Given the description of an element on the screen output the (x, y) to click on. 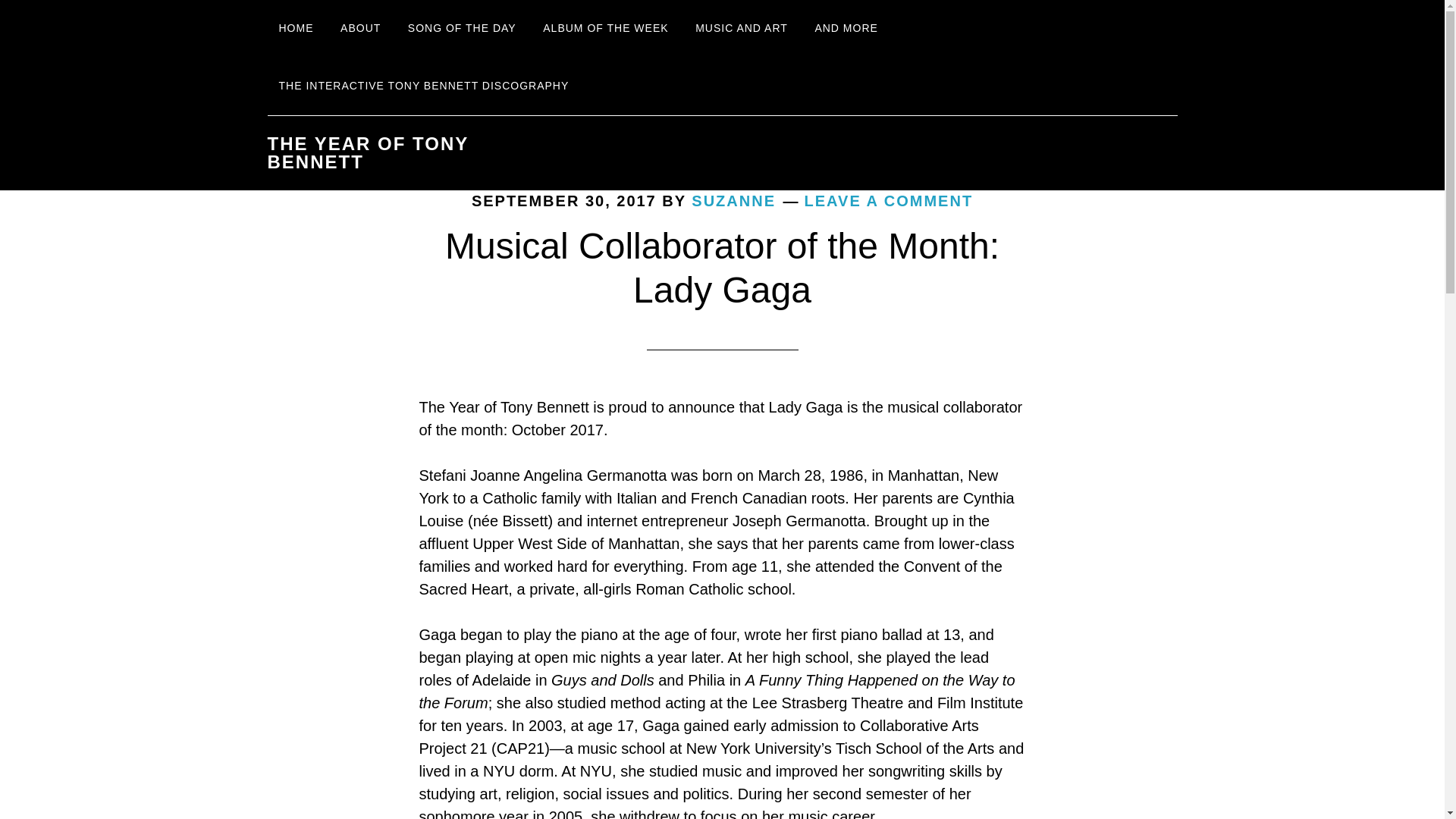
THE YEAR OF TONY BENNETT (366, 152)
THE INTERACTIVE TONY BENNETT DISCOGRAPHY (422, 86)
SUZANNE (733, 200)
ALBUM OF THE WEEK (605, 28)
MUSIC AND ART (741, 28)
AND MORE (845, 28)
HOME (295, 28)
LEAVE A COMMENT (889, 200)
SONG OF THE DAY (461, 28)
ABOUT (360, 28)
Musical Collaborator of the Month: Lady Gaga (721, 268)
